Given the description of an element on the screen output the (x, y) to click on. 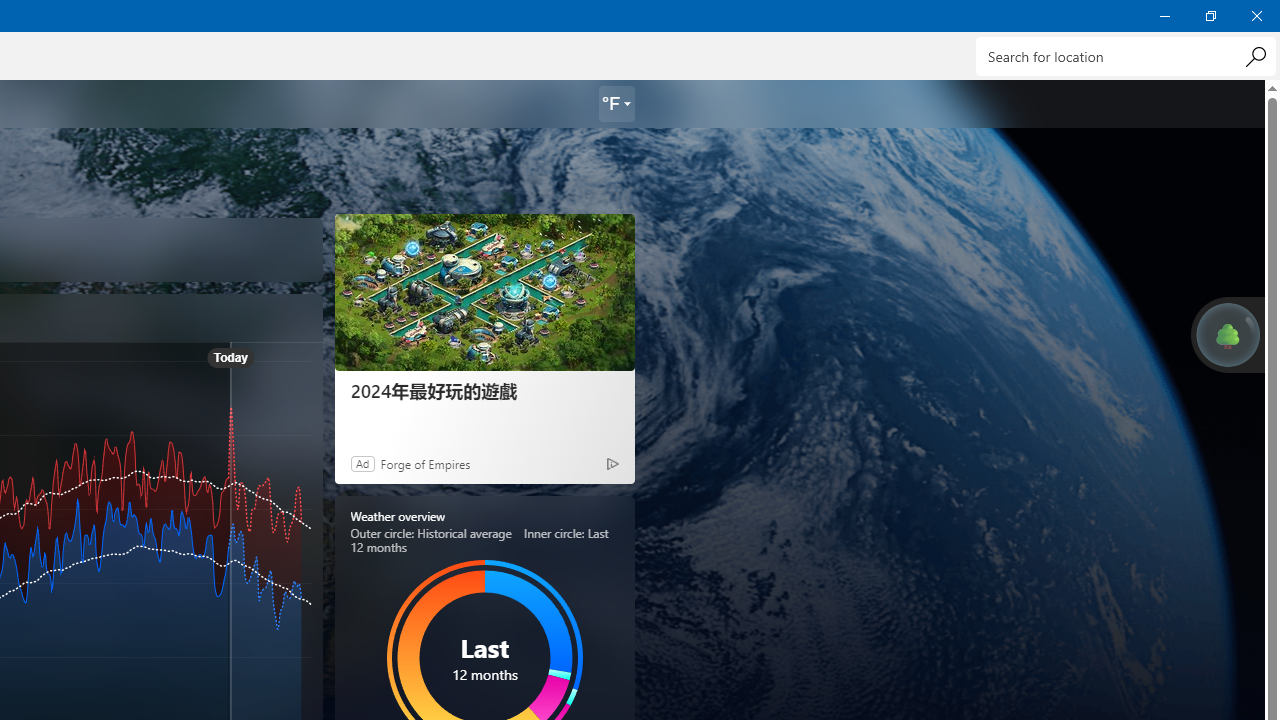
Restore Weather (1210, 15)
Minimize Weather (1164, 15)
Search for location (1125, 56)
Close Weather (1256, 15)
Search (1255, 56)
